Given the description of an element on the screen output the (x, y) to click on. 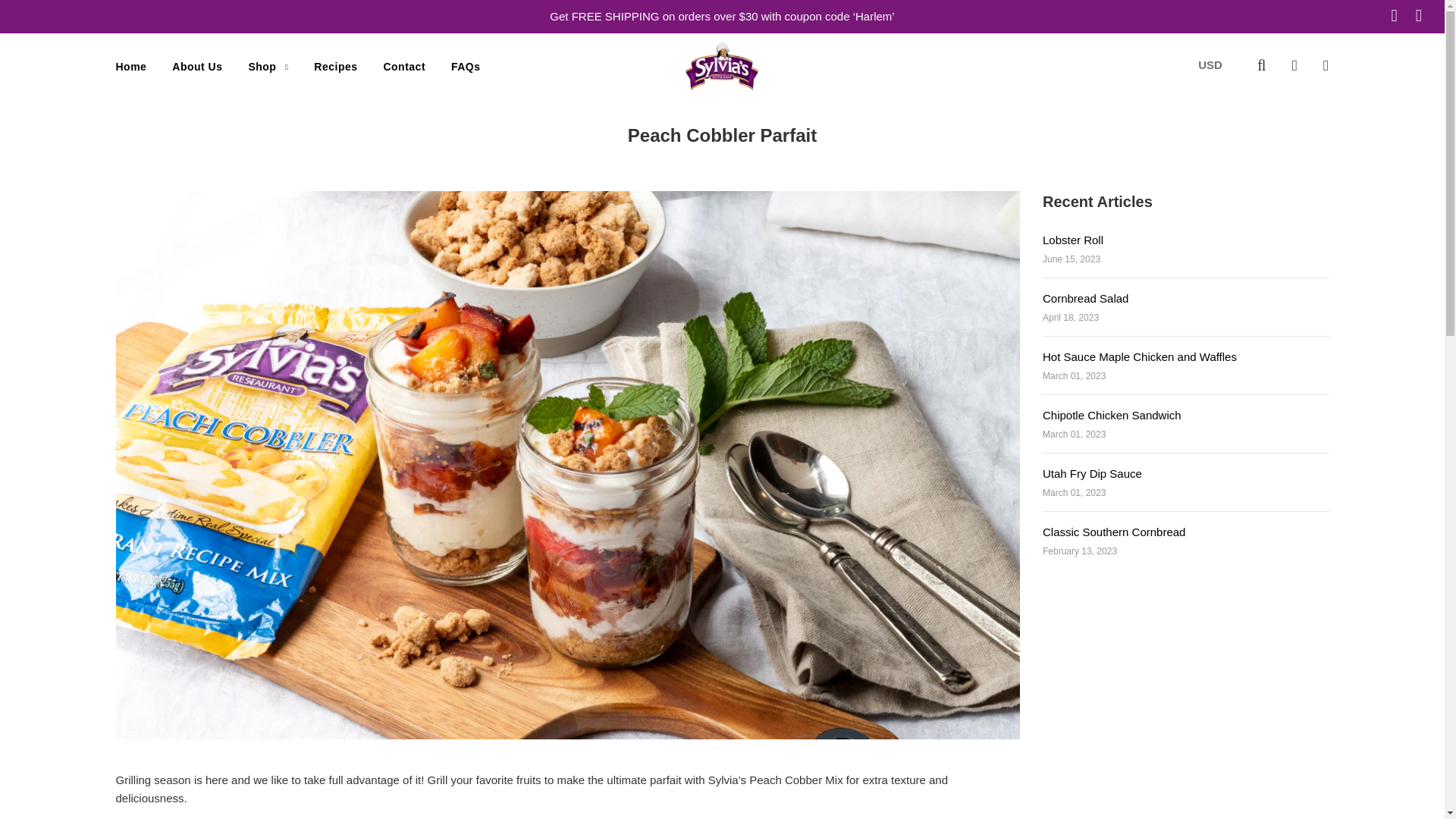
Recipes (335, 66)
Contact (403, 66)
About Us (196, 66)
Home (131, 66)
FAQs (459, 66)
Shop (267, 66)
Log in (1294, 64)
